Given the description of an element on the screen output the (x, y) to click on. 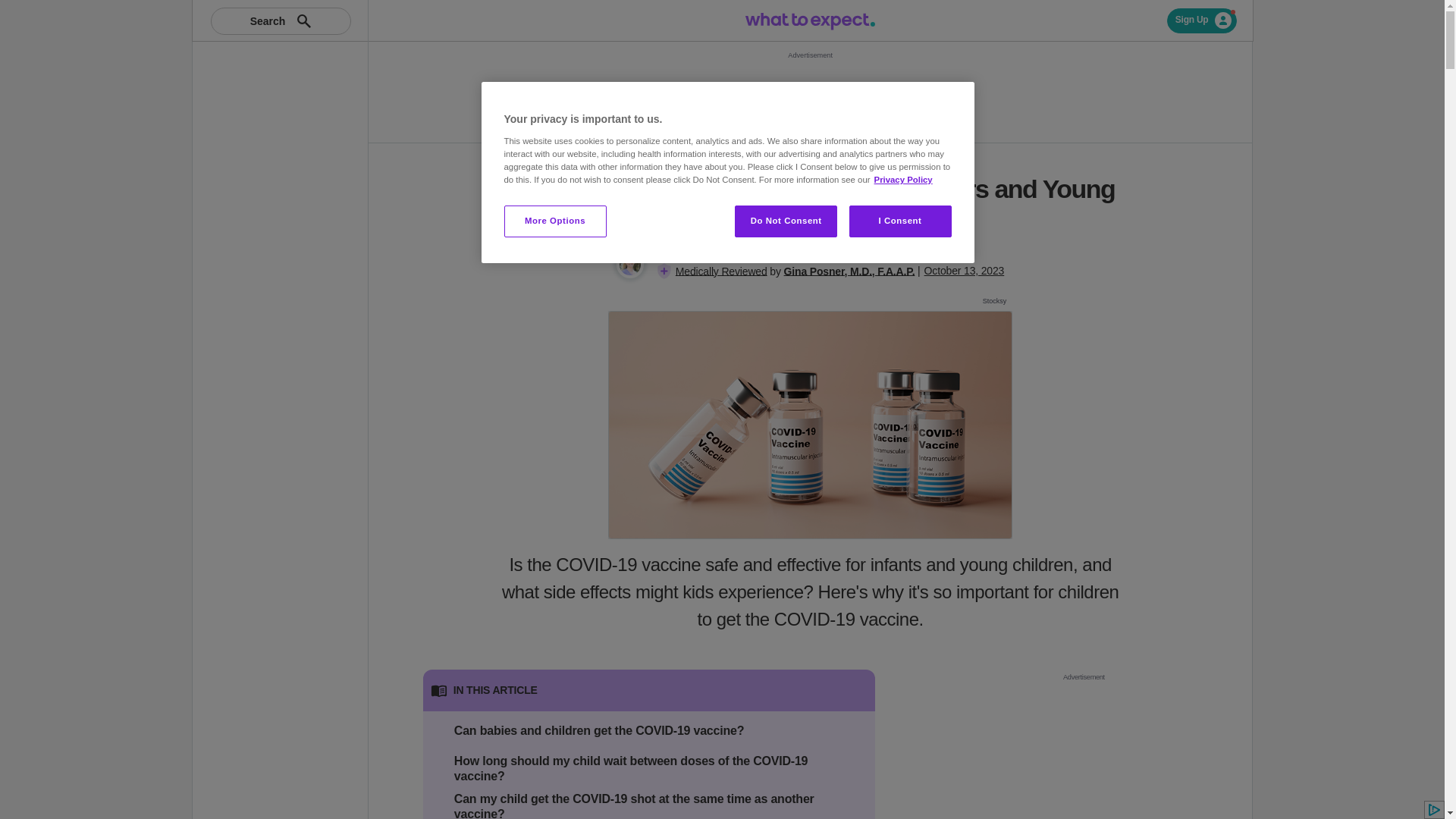
Search (280, 21)
Sign Up (1202, 20)
